Given the description of an element on the screen output the (x, y) to click on. 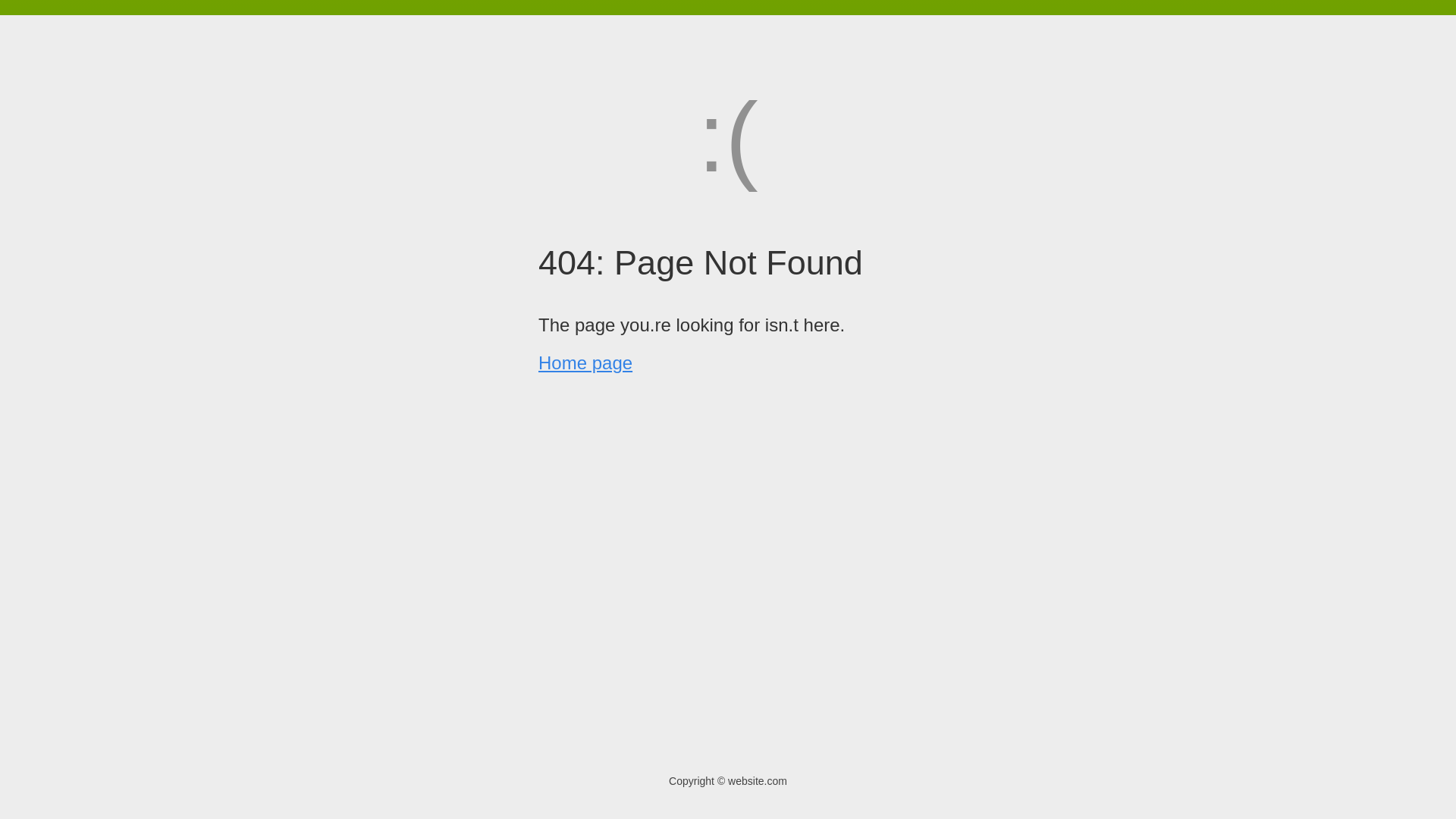
Home page Element type: text (585, 362)
